Given the description of an element on the screen output the (x, y) to click on. 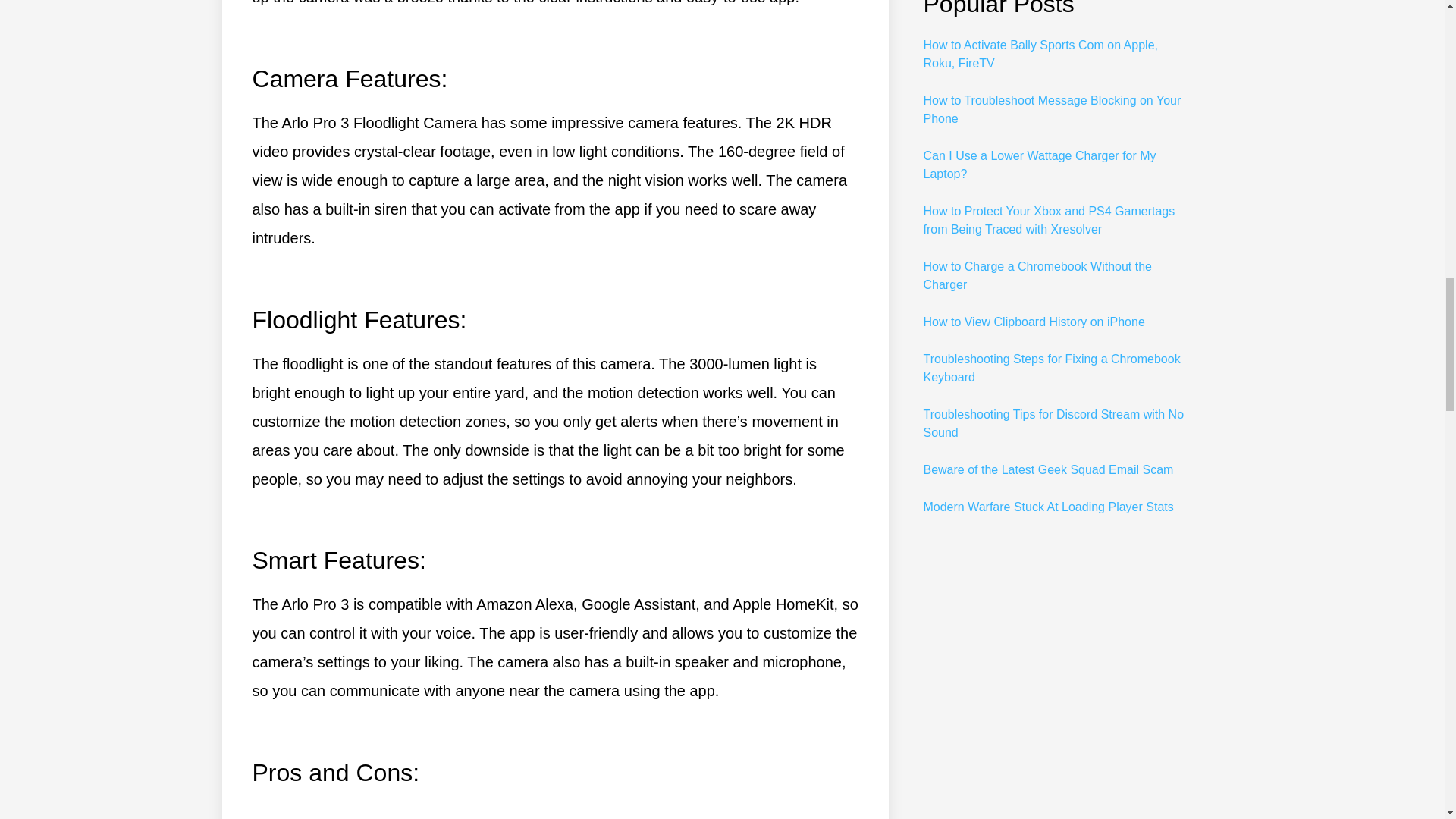
Troubleshooting Steps for Fixing a Chromebook Keyboard (1051, 368)
How to Activate Bally Sports Com on Apple, Roku, FireTV (1040, 53)
How to View Clipboard History on iPhone (1033, 321)
How to Troubleshoot Message Blocking on Your Phone (1051, 109)
How to Charge a Chromebook Without the Charger (1037, 275)
Can I Use a Lower Wattage Charger for My Laptop? (1039, 164)
Troubleshooting Tips for Discord Stream with No Sound (1053, 422)
